Given the description of an element on the screen output the (x, y) to click on. 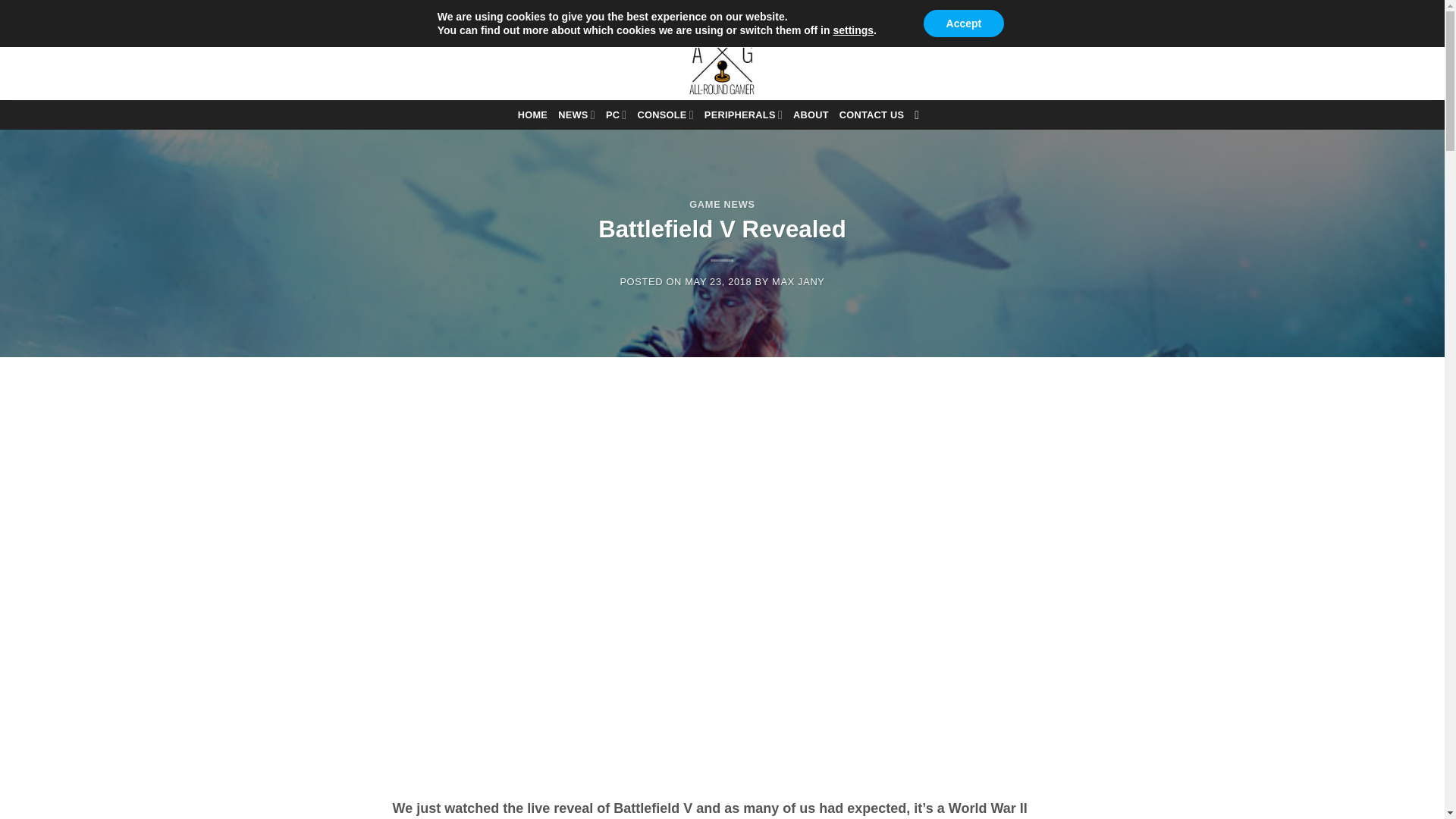
HOME (532, 114)
PERIPHERALS (743, 114)
CONSOLE (665, 114)
CONTACT US (872, 114)
All-Round Gamer (721, 57)
ABOUT (810, 114)
NEWS (576, 114)
